Given the description of an element on the screen output the (x, y) to click on. 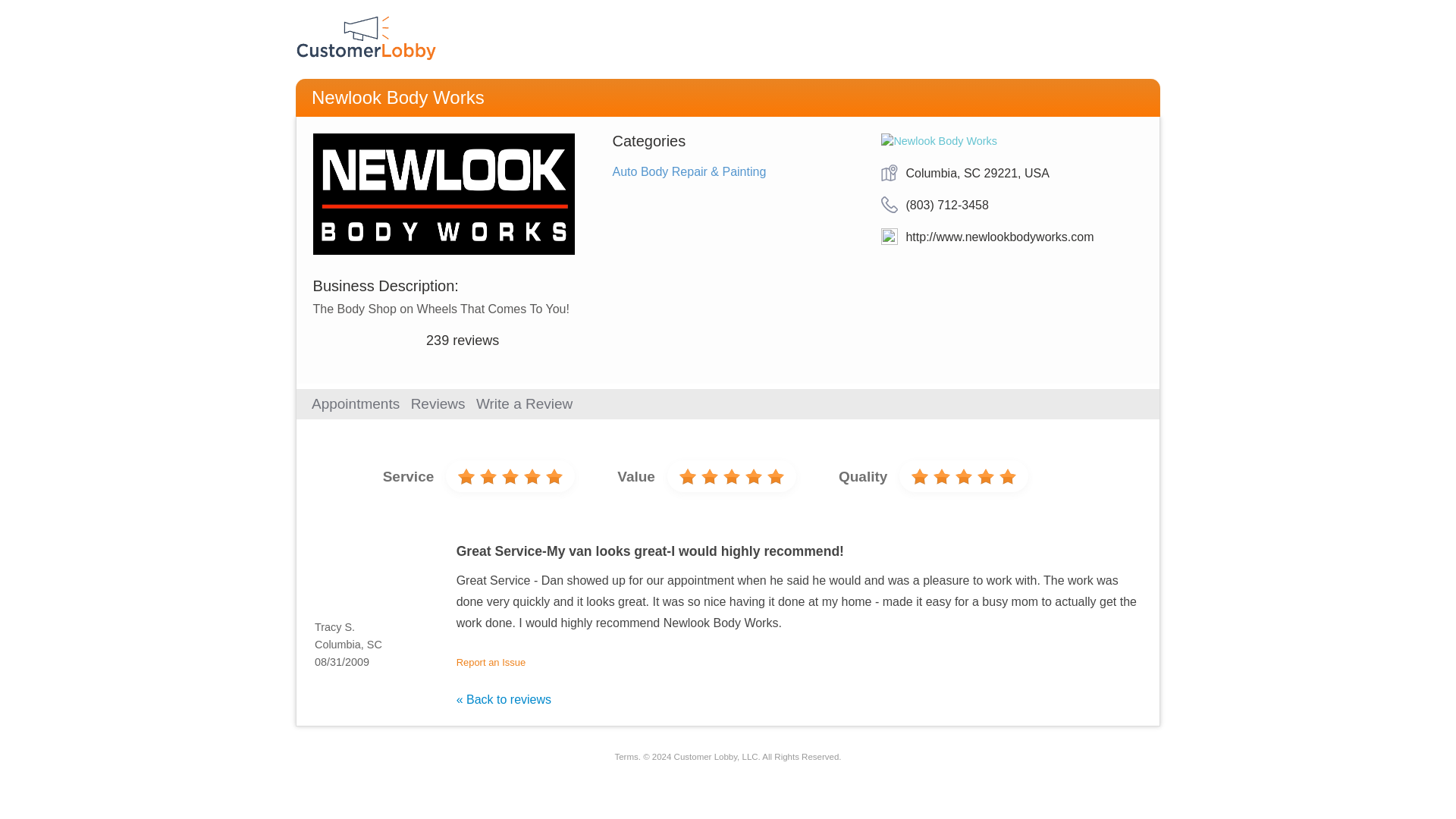
Appointments (354, 403)
239 reviews (462, 340)
Report an Issue (491, 662)
Reviews (437, 403)
Write a Review (524, 403)
